Given the description of an element on the screen output the (x, y) to click on. 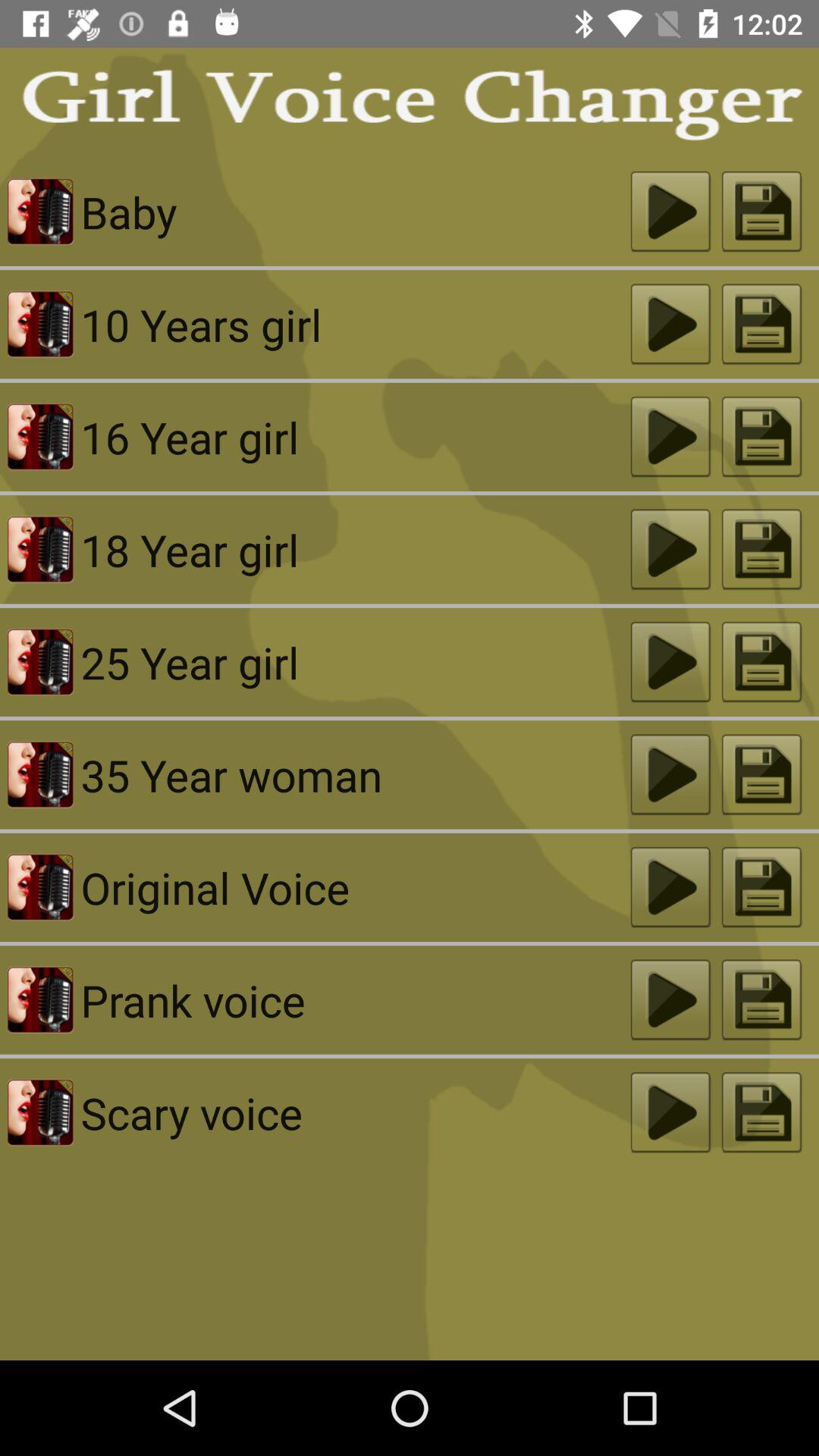
flip until original voice (355, 887)
